Given the description of an element on the screen output the (x, y) to click on. 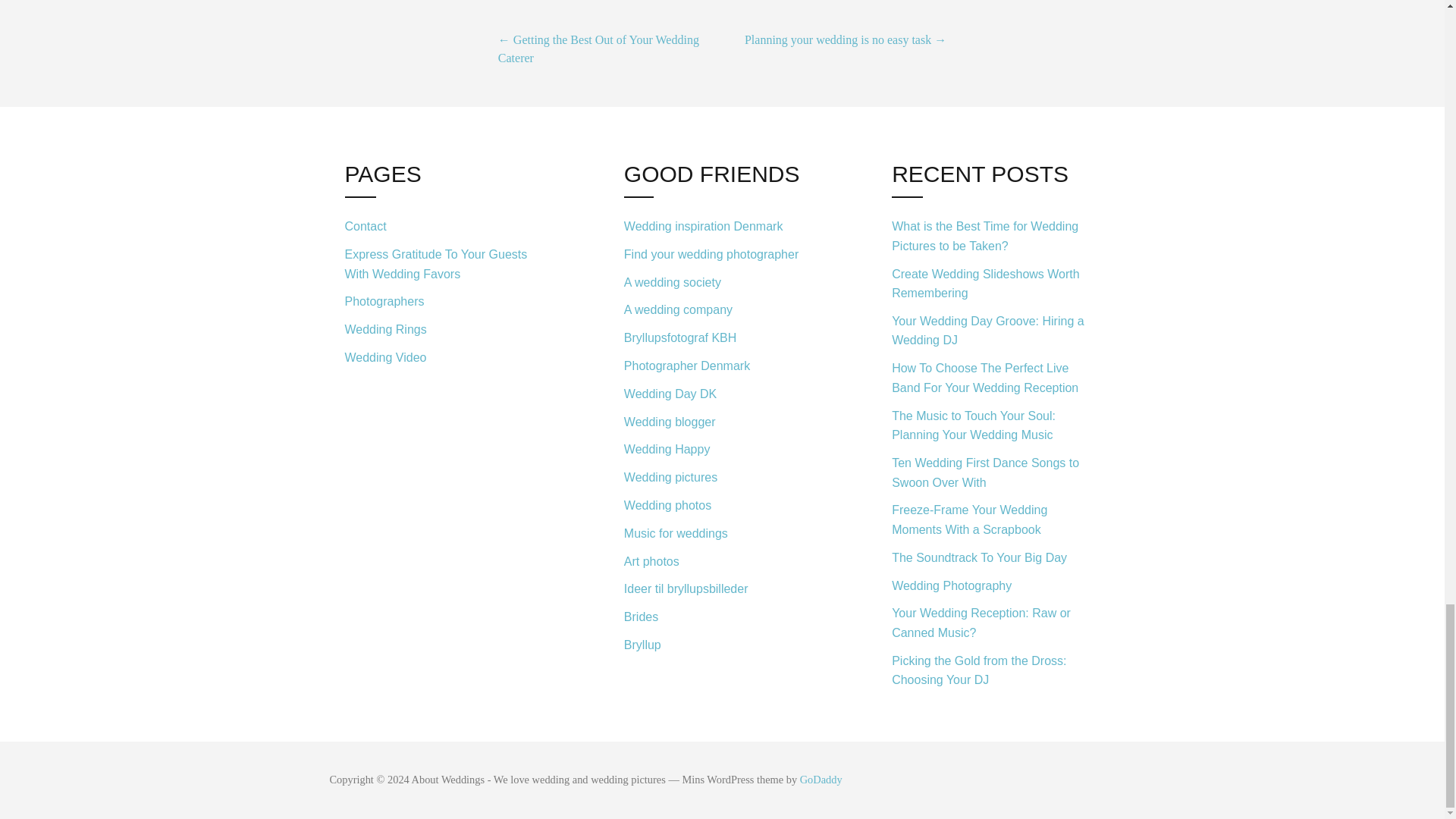
Photographers (447, 302)
Find your wedding photographer (722, 254)
Photographer Denmark (722, 366)
Wedding Happy (722, 449)
Wedding Rings (447, 329)
Wedding Day DK (722, 393)
Express Gratitude To Your Guests With Wedding Favors (447, 263)
Wedding inspiration Denmark (722, 226)
Contact (447, 226)
A wedding company (722, 310)
